Given the description of an element on the screen output the (x, y) to click on. 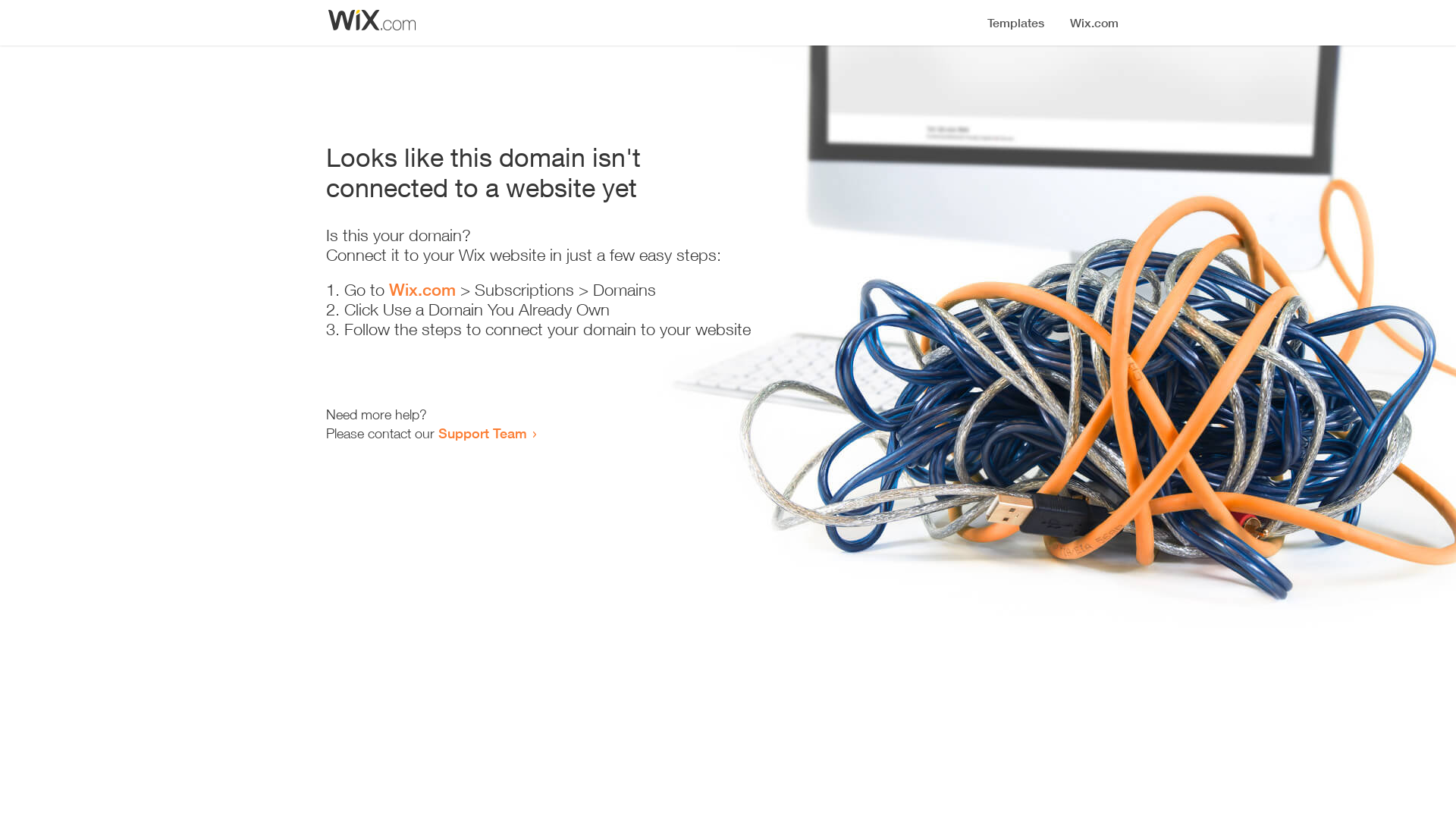
Support Team Element type: text (482, 432)
Wix.com Element type: text (422, 289)
